Given the description of an element on the screen output the (x, y) to click on. 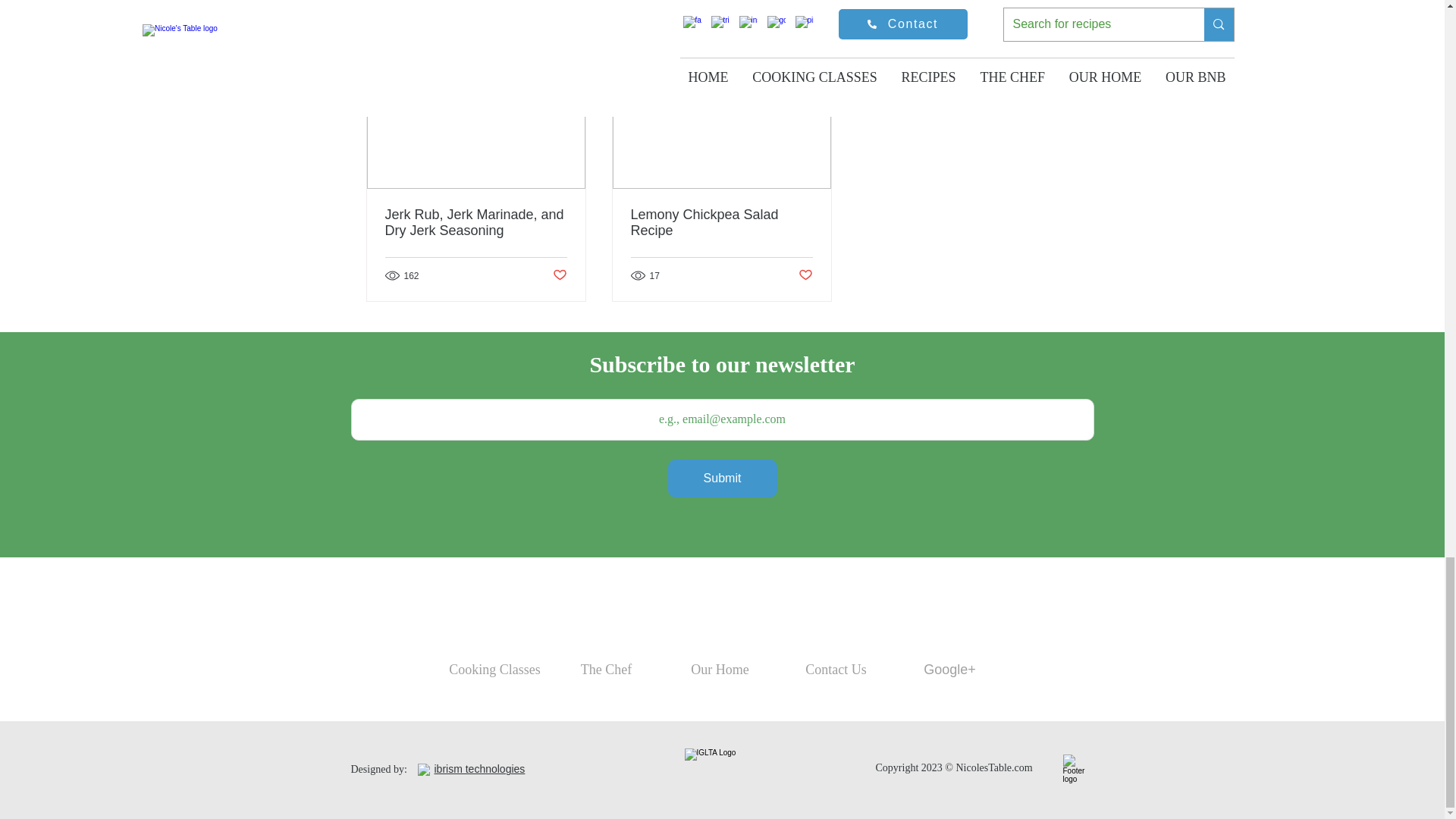
Post not marked as liked (804, 275)
Lemony Chickpea Salad Recipe (721, 223)
Jerk Rub, Jerk Marinade, and Dry Jerk Seasoning (476, 223)
See All (1061, 38)
Post not marked as liked (558, 275)
